Given the description of an element on the screen output the (x, y) to click on. 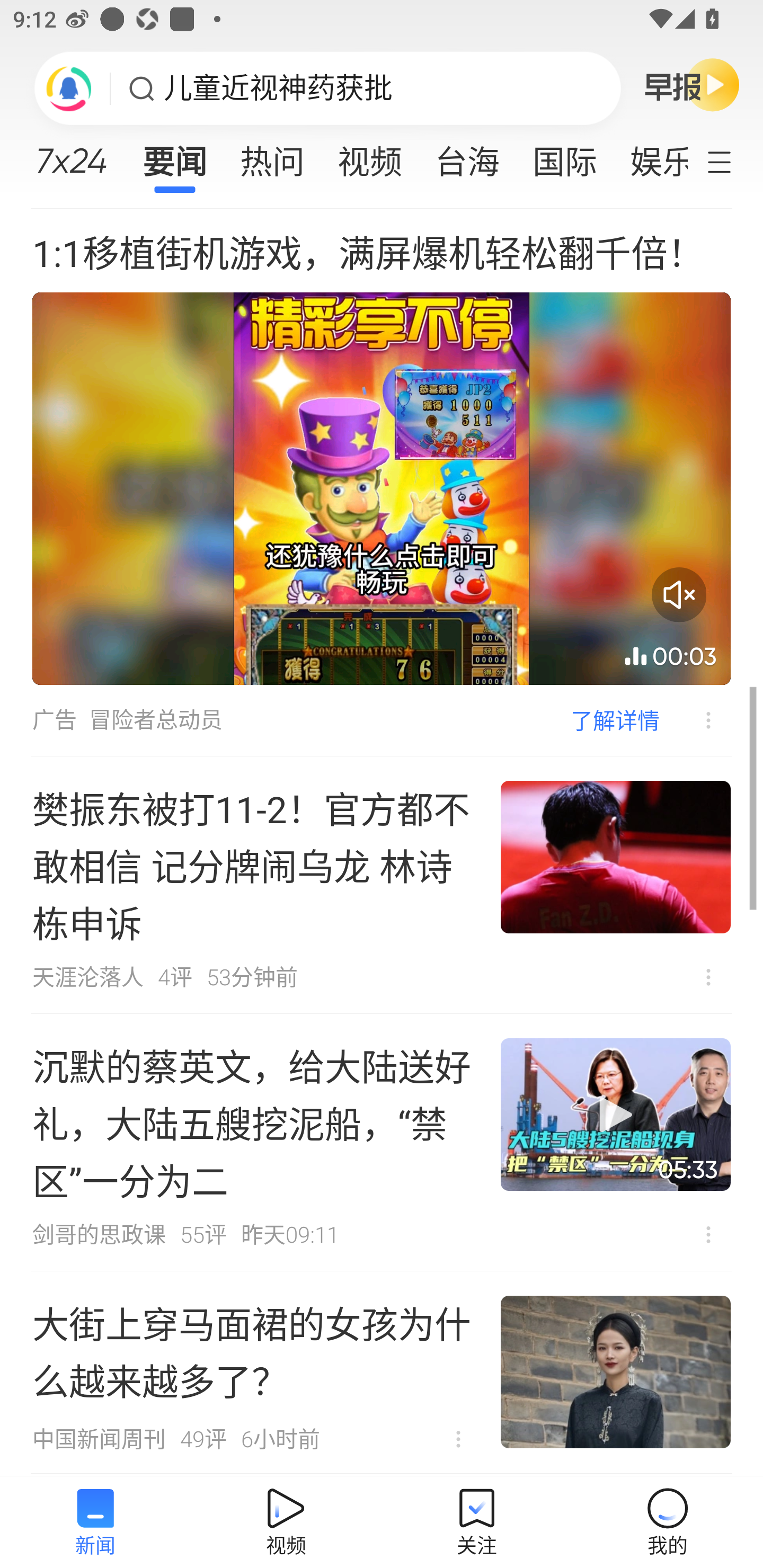
早晚报 (691, 84)
刷新 (68, 88)
儿童近视神药获批 (278, 88)
7x24 (70, 154)
要闻 (174, 155)
热问 (272, 155)
视频 (369, 155)
台海 (466, 155)
国际 (564, 155)
娱乐 (650, 155)
 定制频道 (731, 160)
00:03 音量开关 (381, 488)
音量开关 (678, 594)
 不感兴趣 (694, 720)
了解详情 (614, 720)
广告 (54, 720)
冒险者总动员 (155, 720)
 不感兴趣 (707, 977)
 不感兴趣 (707, 1234)
大街上穿马面裙的女孩为什么越来越多了？ 中国新闻周刊 49评 6小时前  不感兴趣 (381, 1372)
 不感兴趣 (458, 1439)
